Given the description of an element on the screen output the (x, y) to click on. 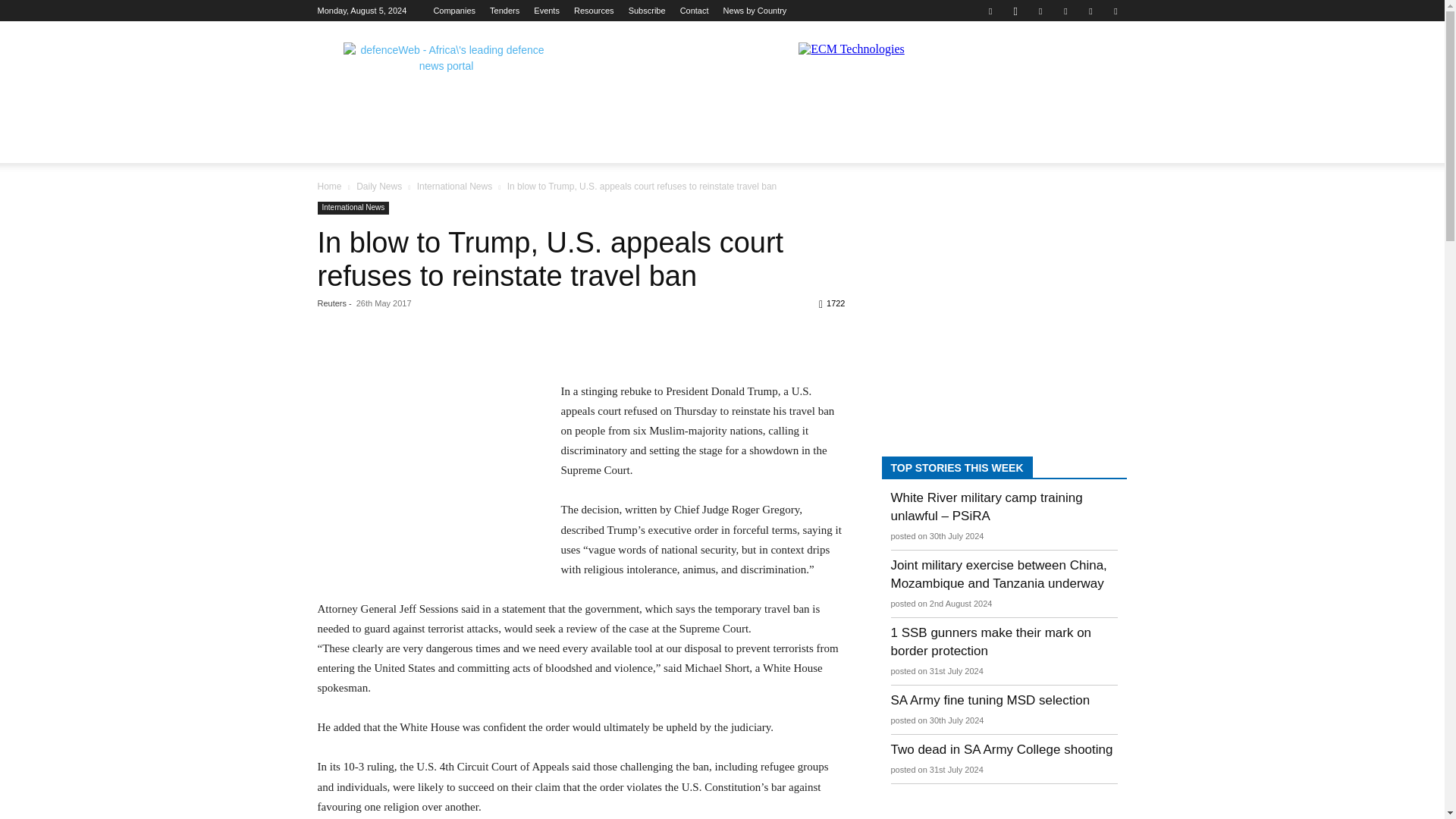
Instagram (1015, 10)
Mail (1065, 10)
Facebook (989, 10)
Linkedin (1040, 10)
Twitter (1090, 10)
Youtube (1114, 10)
